Given the description of an element on the screen output the (x, y) to click on. 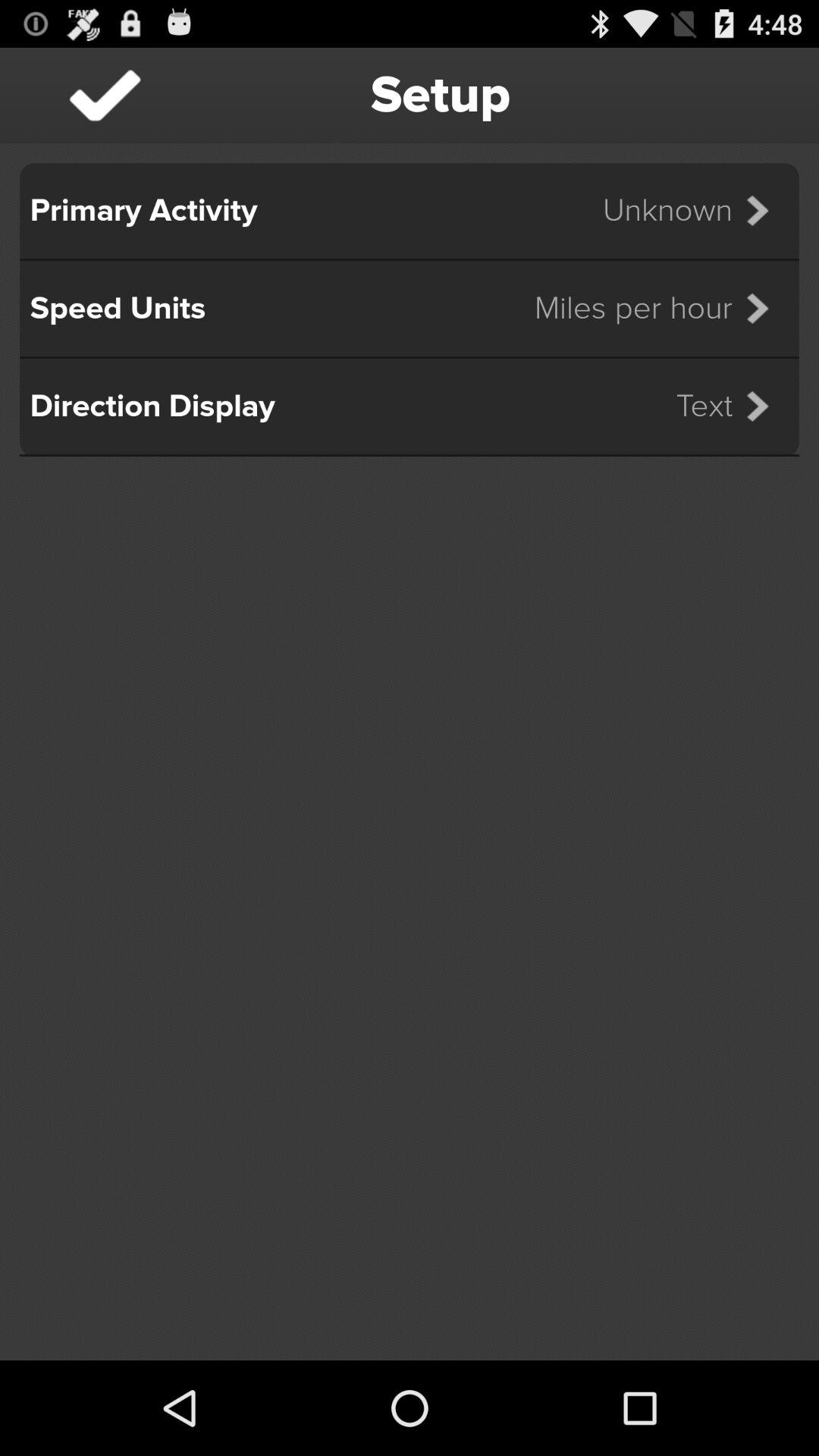
choose item next to the direction display item (732, 406)
